Given the description of an element on the screen output the (x, y) to click on. 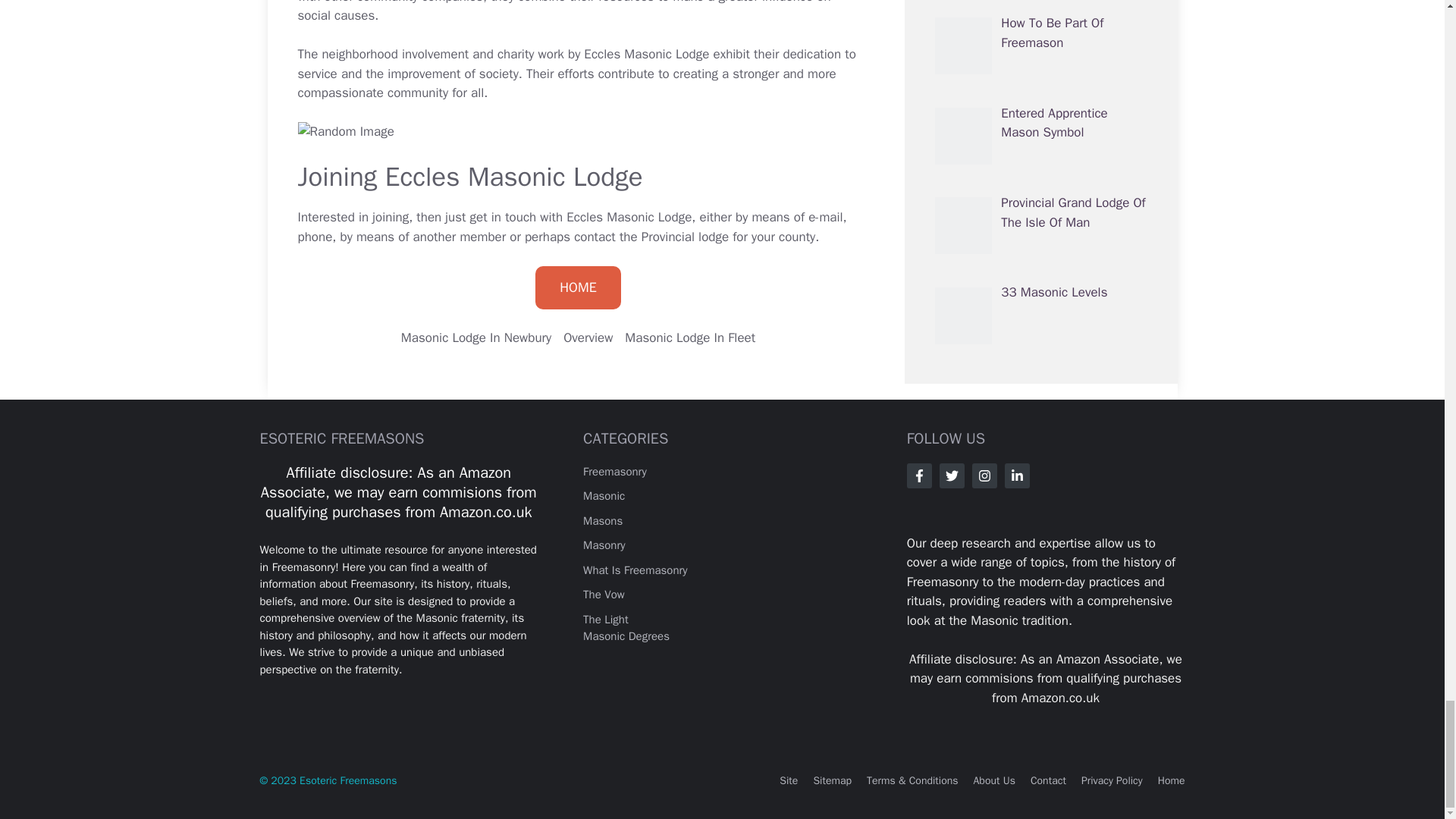
Masonic Lodge In Fleet (689, 337)
HOME (578, 287)
Masonic Lodge In Newbury (476, 337)
Overview (587, 337)
